Given the description of an element on the screen output the (x, y) to click on. 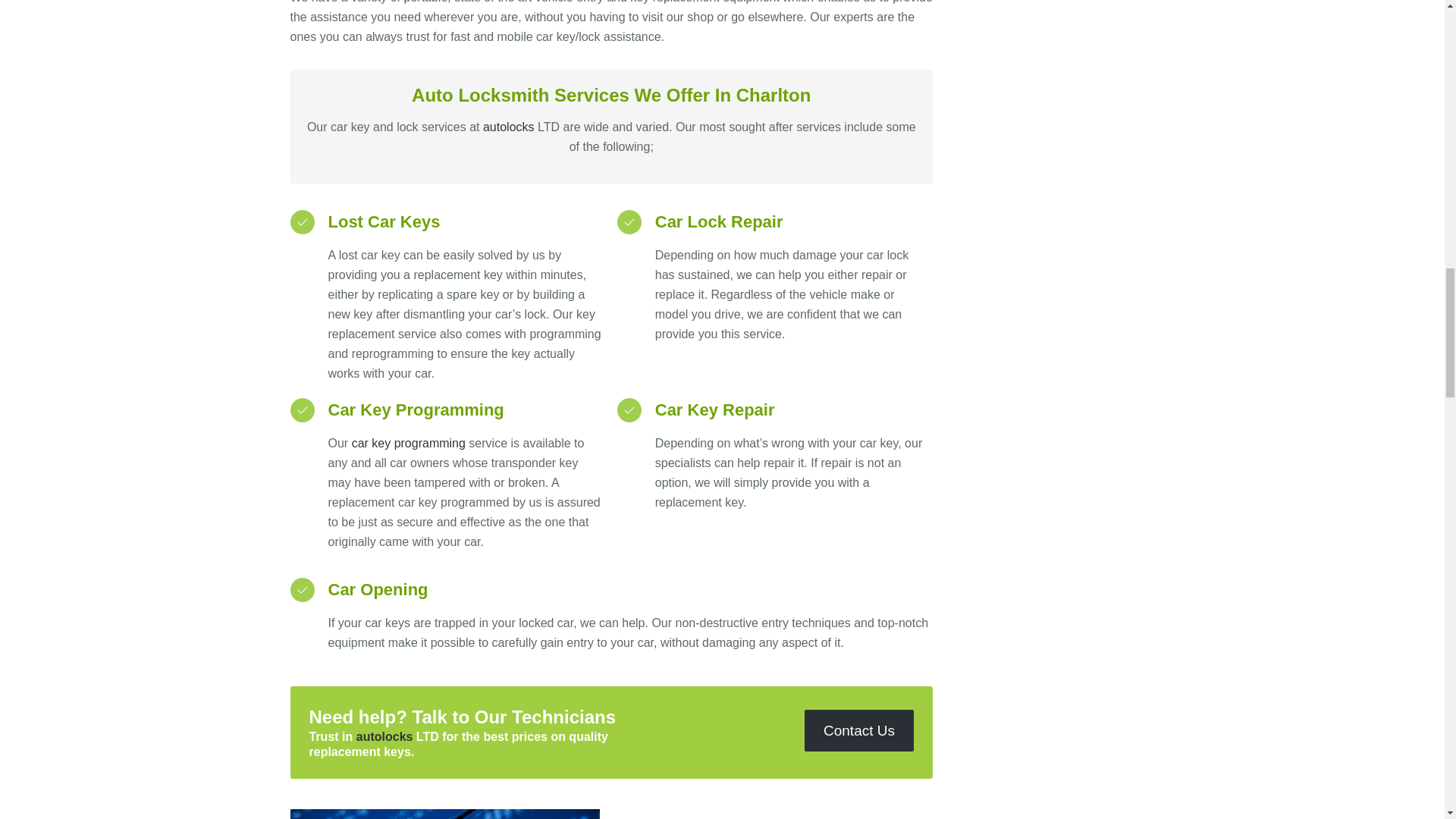
autolocks (384, 736)
car key programming (408, 442)
autolocks (508, 126)
